Given the description of an element on the screen output the (x, y) to click on. 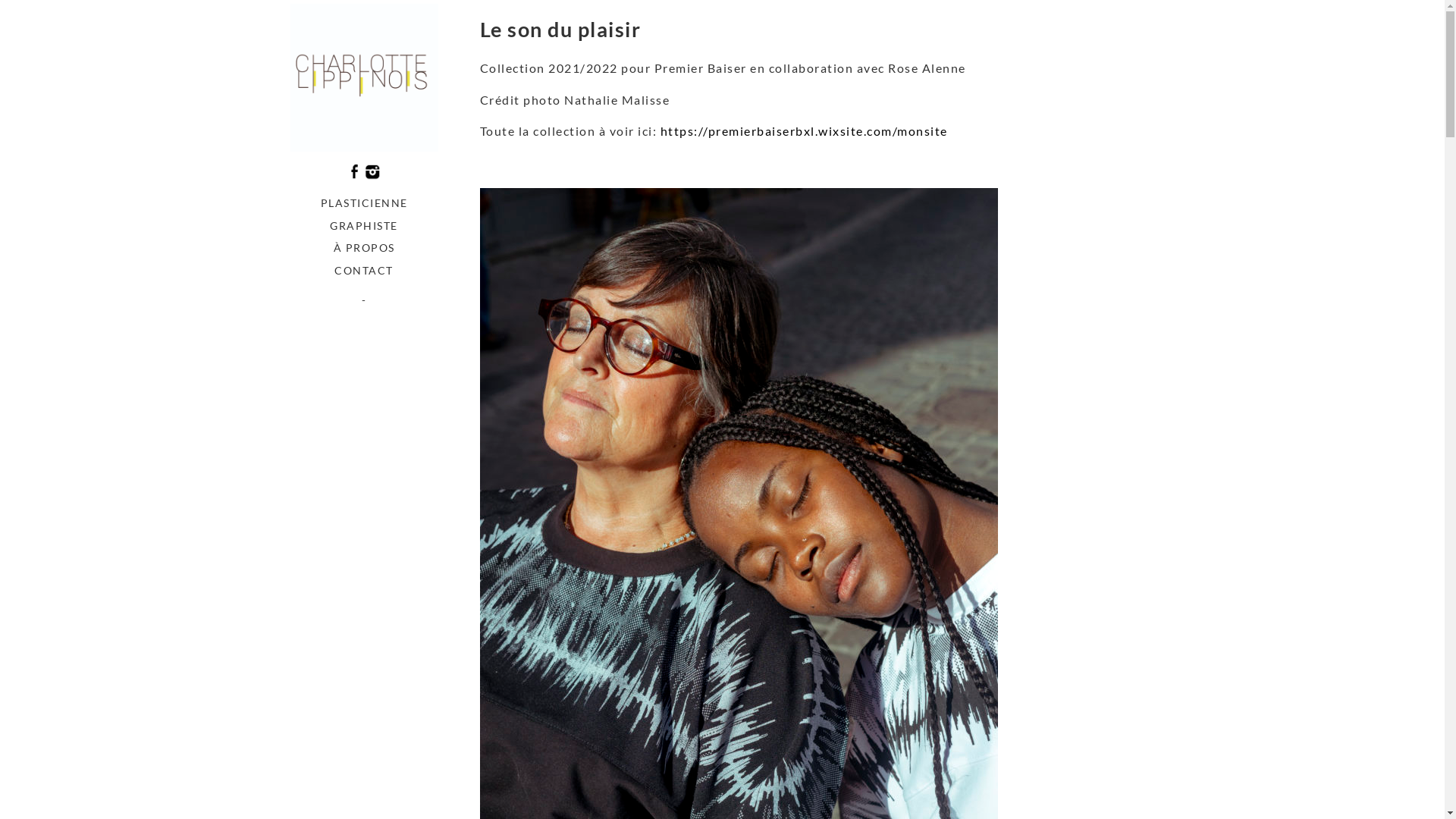
GRAPHISTE Element type: text (363, 225)
https://premierbaiserbxl.wixsite.com/monsite Element type: text (803, 130)
CONTACT Element type: text (363, 270)
PLASTICIENNE Element type: text (363, 202)
